Given the description of an element on the screen output the (x, y) to click on. 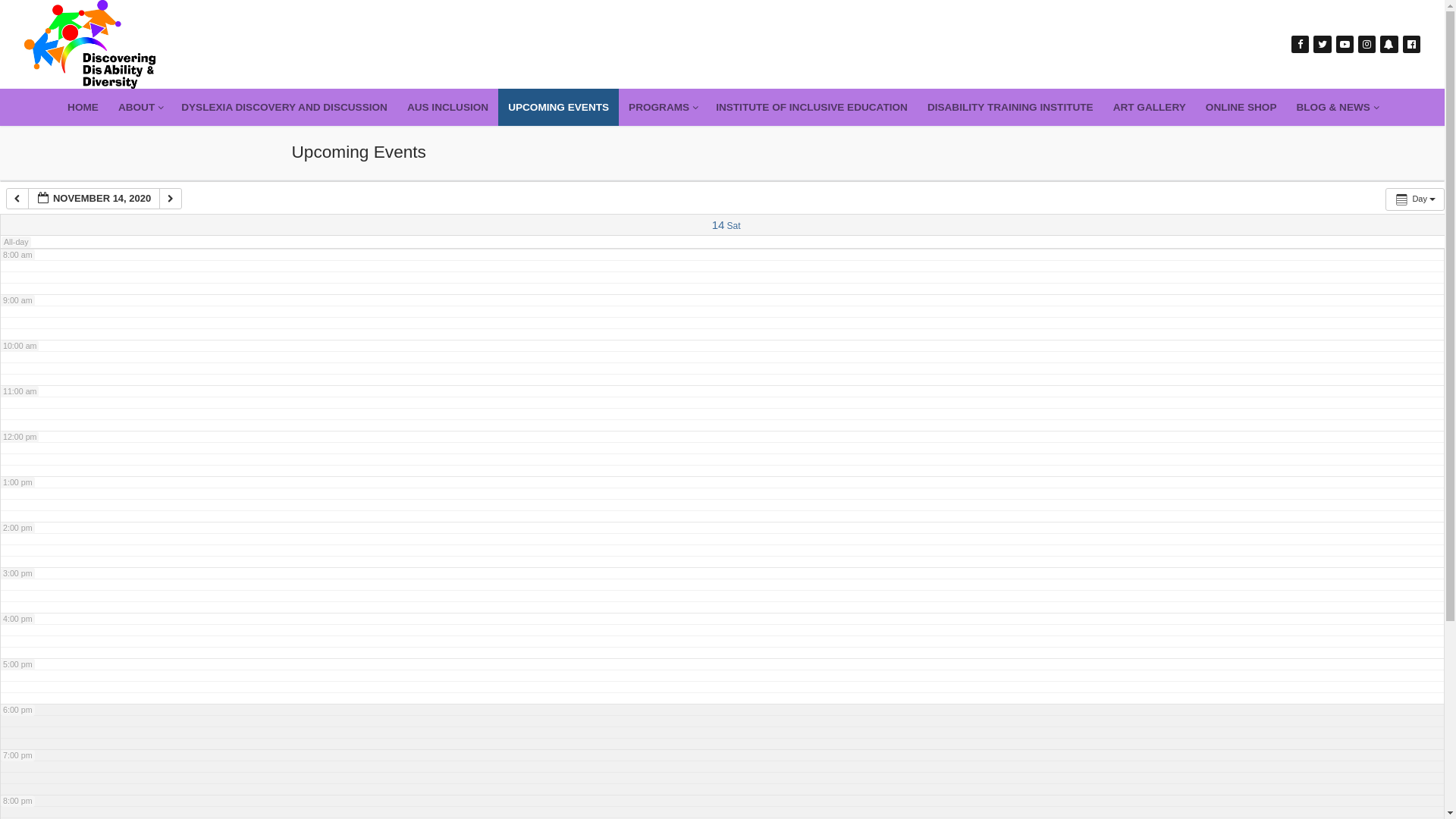
Twitter Element type: hover (1322, 44)
Blogger Element type: hover (1388, 44)
Youtube Element type: hover (1344, 44)
NOVEMBER 14, 2020 Element type: text (94, 199)
HOME Element type: text (82, 106)
14 Sat Element type: text (726, 225)
INSTITUTE OF INCLUSIVE EDUCATION Element type: text (811, 106)
ONLINE SHOP Element type: text (1240, 106)
Facebook Element type: hover (1300, 44)
ART GALLERY Element type: text (1149, 106)
AUS INCLUSION Element type: text (447, 106)
DISABILITY TRAINING INSTITUTE Element type: text (1010, 106)
DYSLEXIA DISCOVERY AND DISCUSSION Element type: text (284, 106)
ABOUT
  Element type: text (139, 106)
Day Element type: text (1414, 199)
Instagram Element type: hover (1366, 44)
Facebook DDD Element type: hover (1411, 44)
UPCOMING EVENTS Element type: text (558, 106)
PROGRAMS
  Element type: text (662, 106)
BLOG & NEWS
  Element type: text (1336, 106)
